Given the description of an element on the screen output the (x, y) to click on. 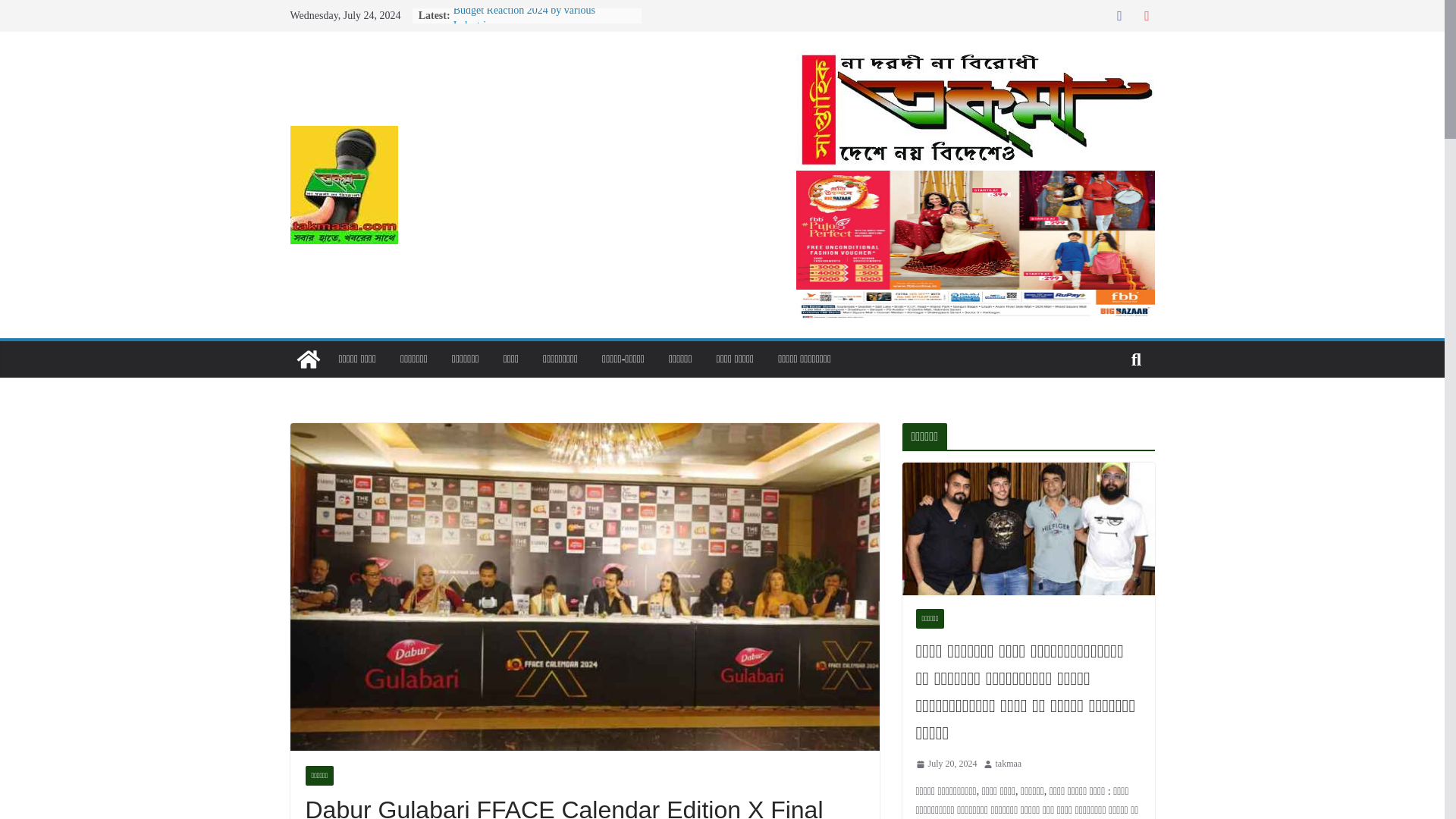
Budget Reaction 2024 by various Industries (523, 17)
Budget Reaction 2024 by various Industries (523, 17)
Takmaaa (975, 59)
